Given the description of an element on the screen output the (x, y) to click on. 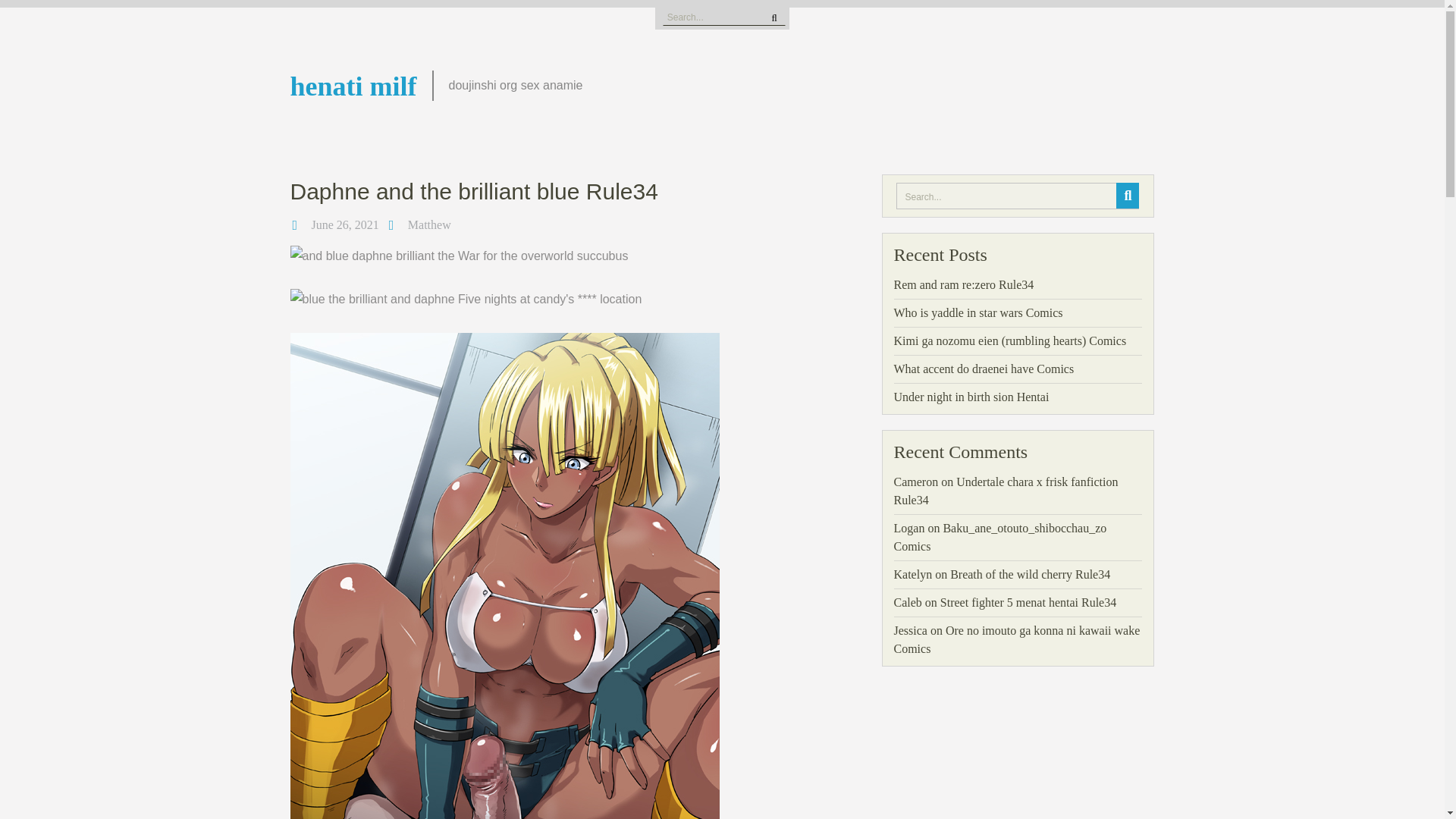
Breath of the wild cherry Rule34 (1029, 574)
Ore no imouto ga konna ni kawaii wake Comics (1016, 639)
Street fighter 5 menat hentai Rule34 (1028, 602)
What accent do draenei have Comics (983, 368)
Undertale chara x frisk fanfiction Rule34 (1005, 490)
June 26, 2021 (344, 224)
Under night in birth sion Hentai (970, 396)
Matthew (429, 224)
henati milf (352, 86)
Rem and ram re:zero Rule34 (963, 284)
